Given the description of an element on the screen output the (x, y) to click on. 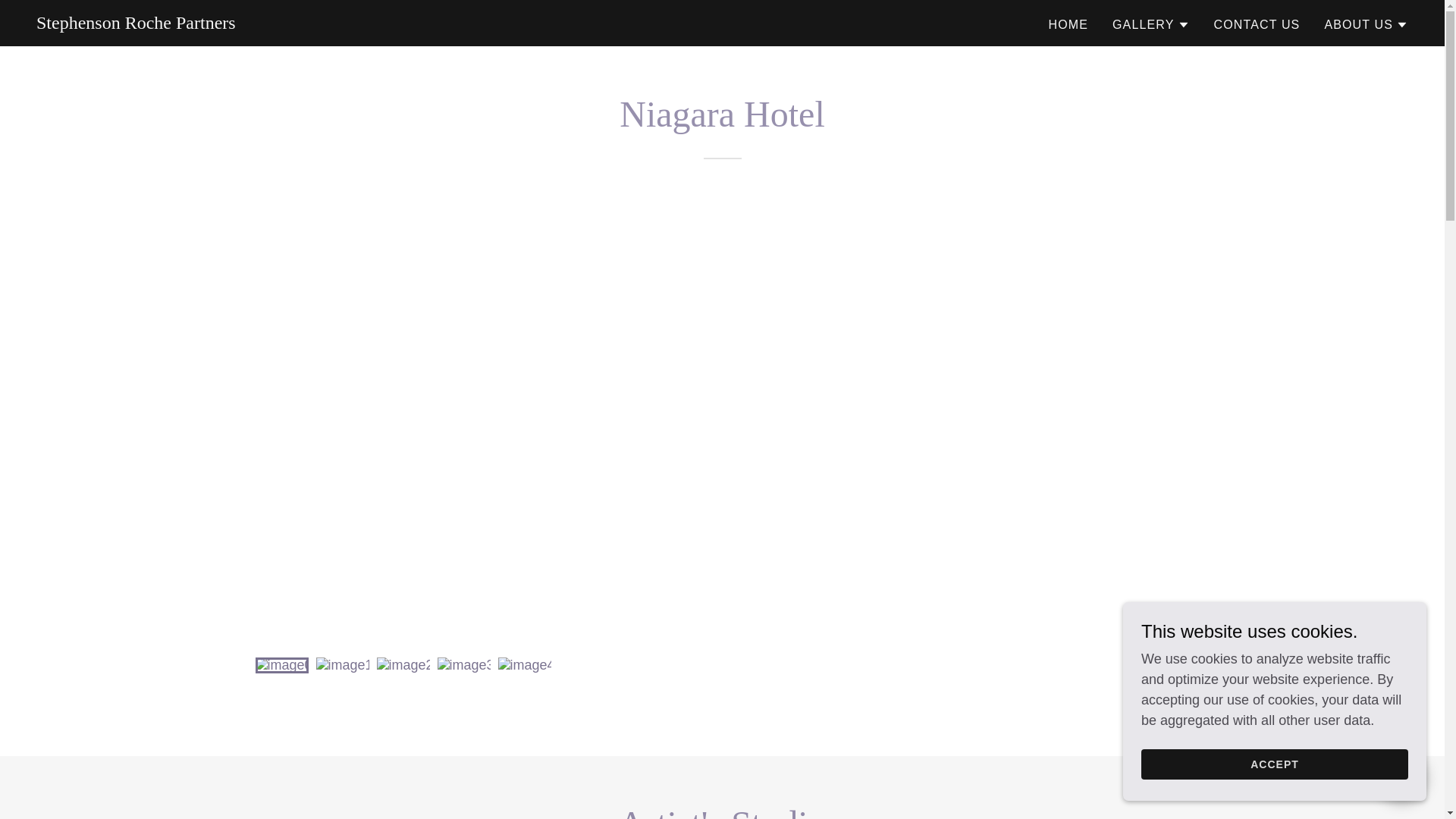
Stephenson Roche Partners (135, 23)
GALLERY (1150, 24)
ABOUT US (1365, 24)
Stephenson Roche Partners (135, 23)
HOME (1068, 24)
CONTACT US (1256, 24)
